Given the description of an element on the screen output the (x, y) to click on. 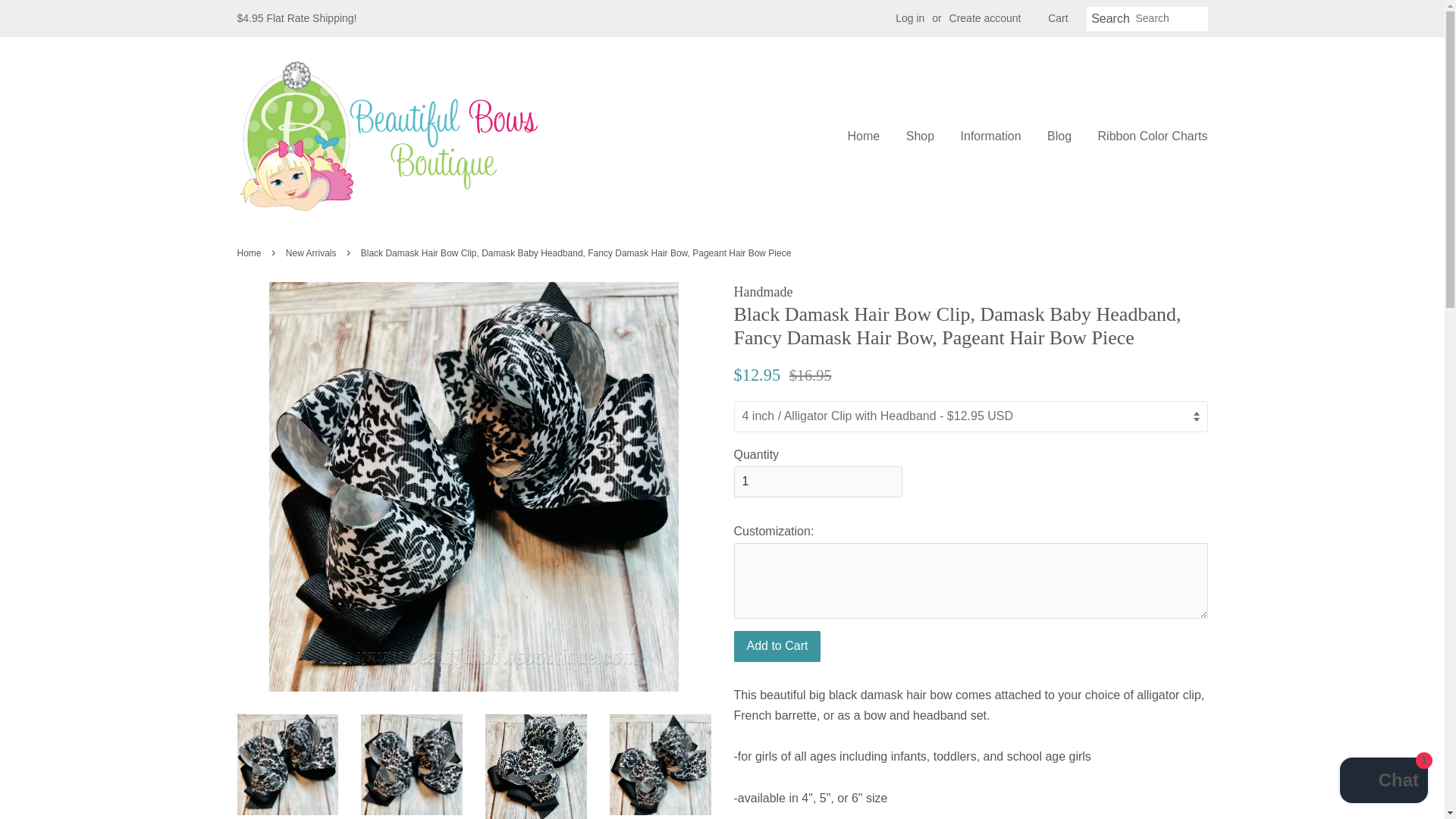
Log in (909, 18)
Create account (985, 18)
Search (1110, 18)
Cart (1057, 18)
Back to the frontpage (249, 253)
1 (817, 481)
